Given the description of an element on the screen output the (x, y) to click on. 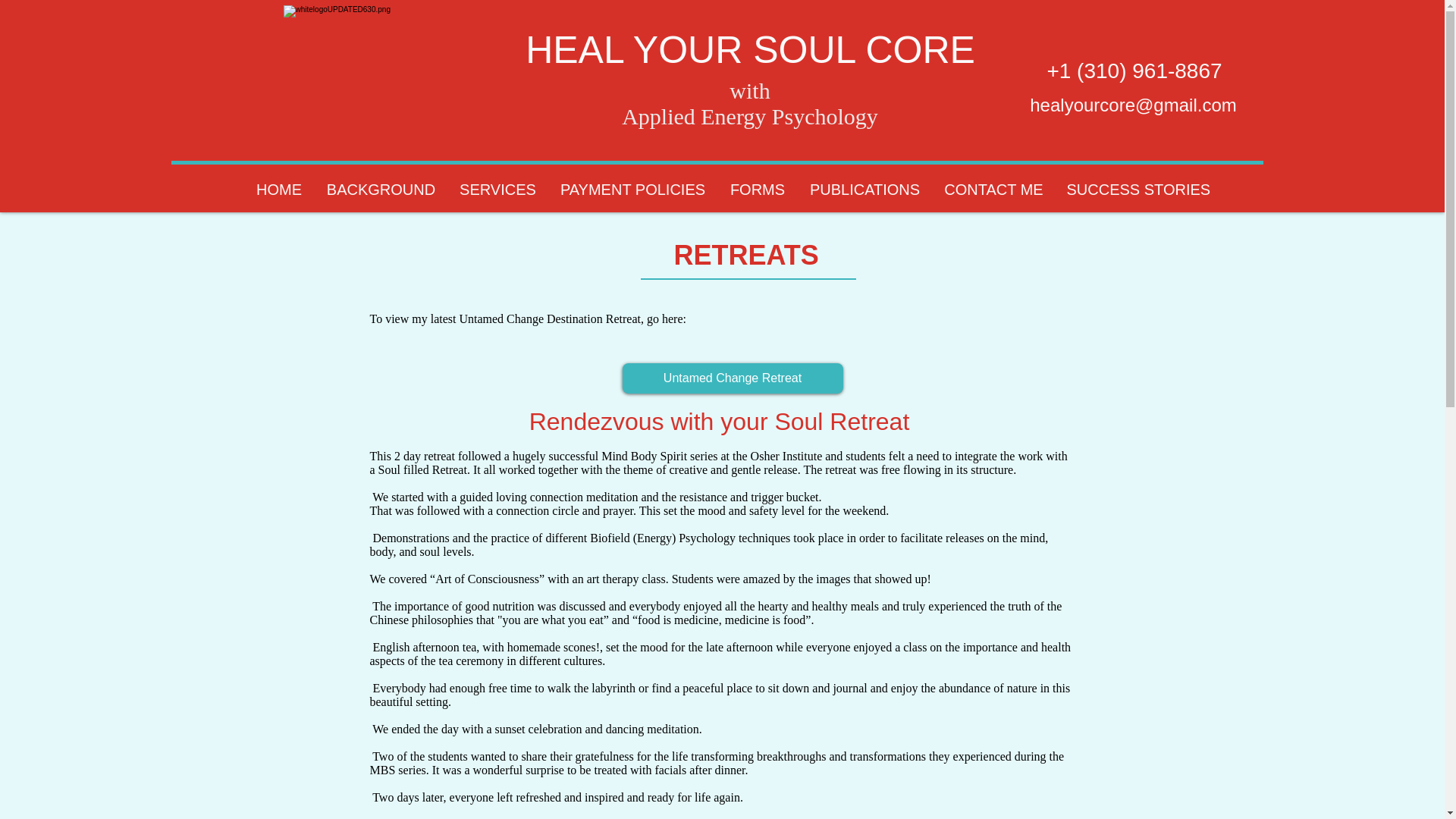
CONTACT ME (994, 189)
                                  RETREATS (745, 223)
HOME (279, 189)
PAYMENT POLICIES (632, 189)
SUCCESS STORIES (1138, 189)
Untamed Change Retreat (732, 378)
